Given the description of an element on the screen output the (x, y) to click on. 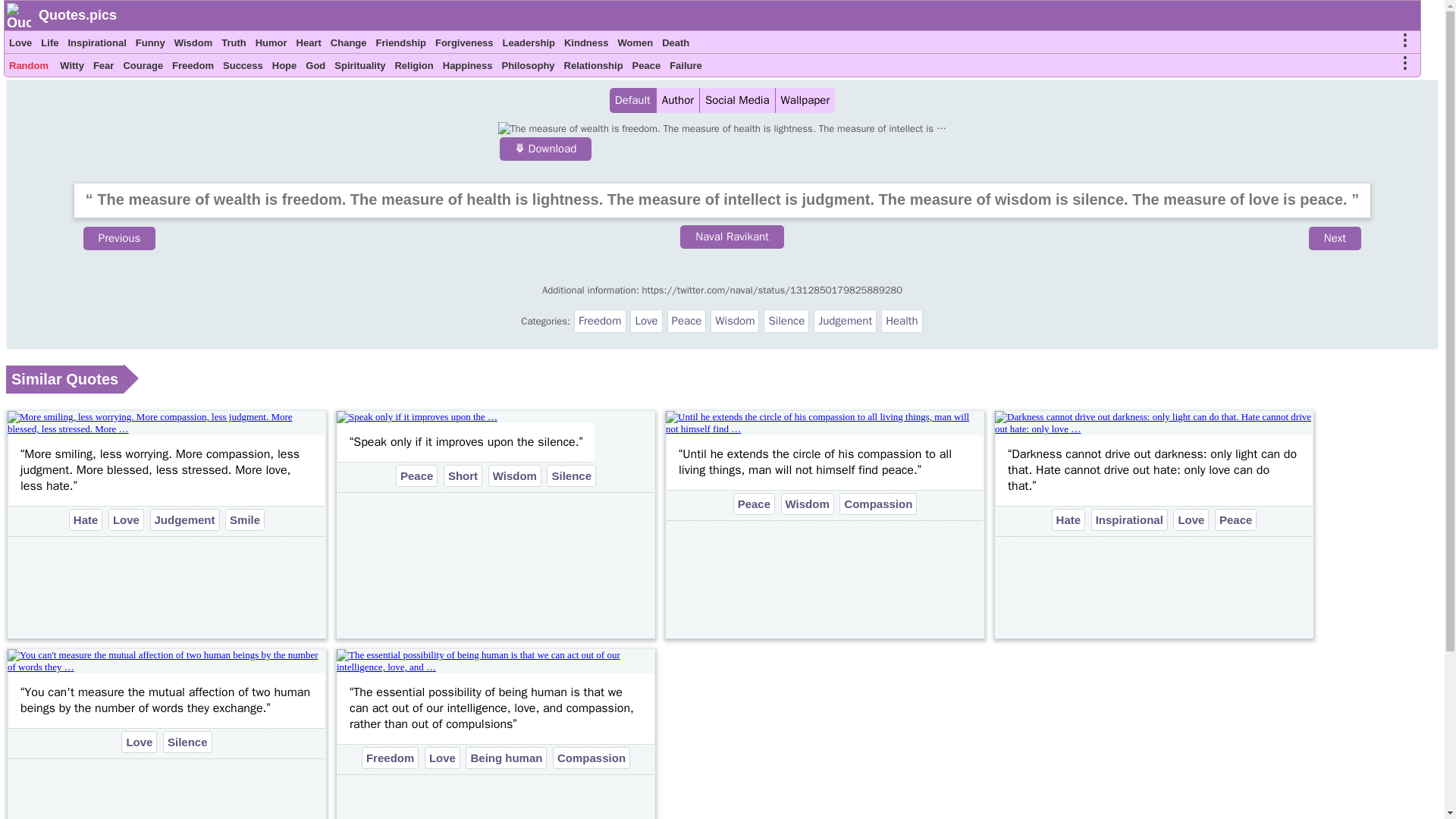
Relationship (593, 67)
Change (348, 45)
Women (634, 45)
Truth (233, 45)
Freedom (192, 67)
Witty (71, 67)
Failure (685, 67)
Quotes.pics (77, 14)
Success (242, 67)
Life (49, 45)
